Given the description of an element on the screen output the (x, y) to click on. 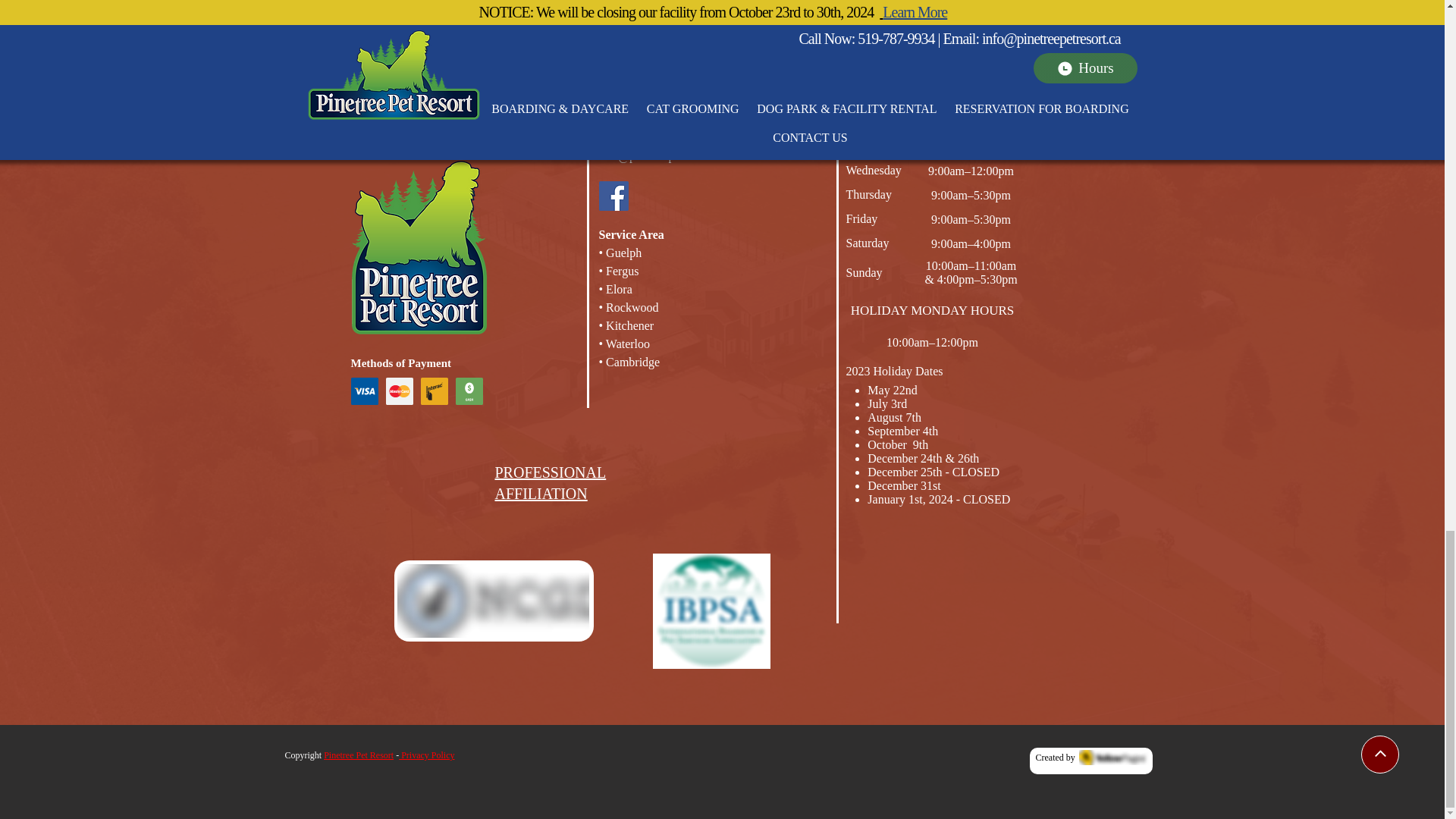
Cat Boarding (517, 32)
IBPSA-logo.png (711, 611)
Privacy Policy (426, 755)
Reservation for Boarding (829, 32)
Pinetree Pet Resort (358, 755)
About Us (1032, 32)
Contact Us (954, 32)
Dog Boarding (420, 32)
